Given the description of an element on the screen output the (x, y) to click on. 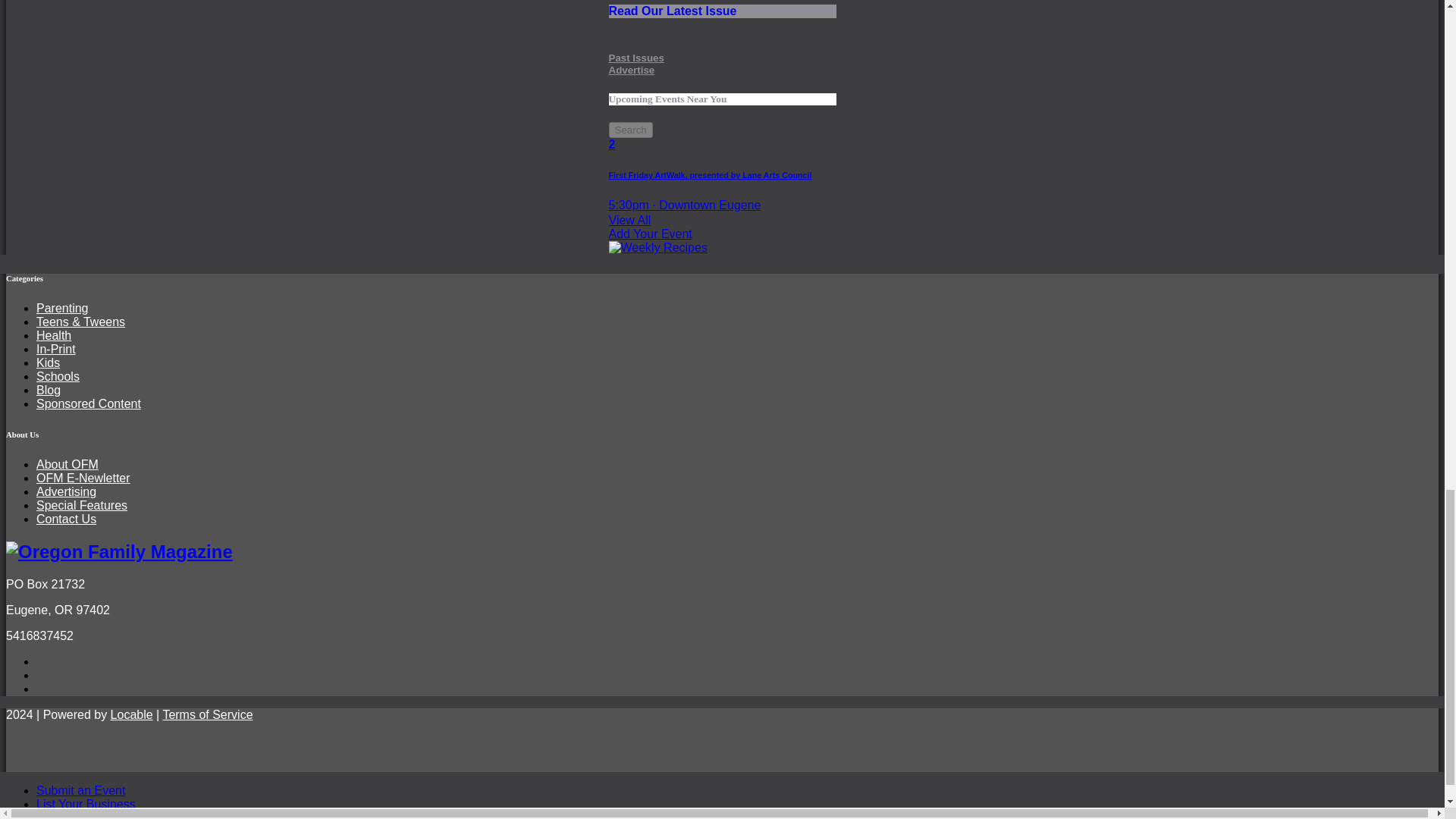
Advertise (630, 70)
View All (721, 219)
Past Issues (635, 57)
Search (721, 9)
Add Your Event (630, 130)
